Given the description of an element on the screen output the (x, y) to click on. 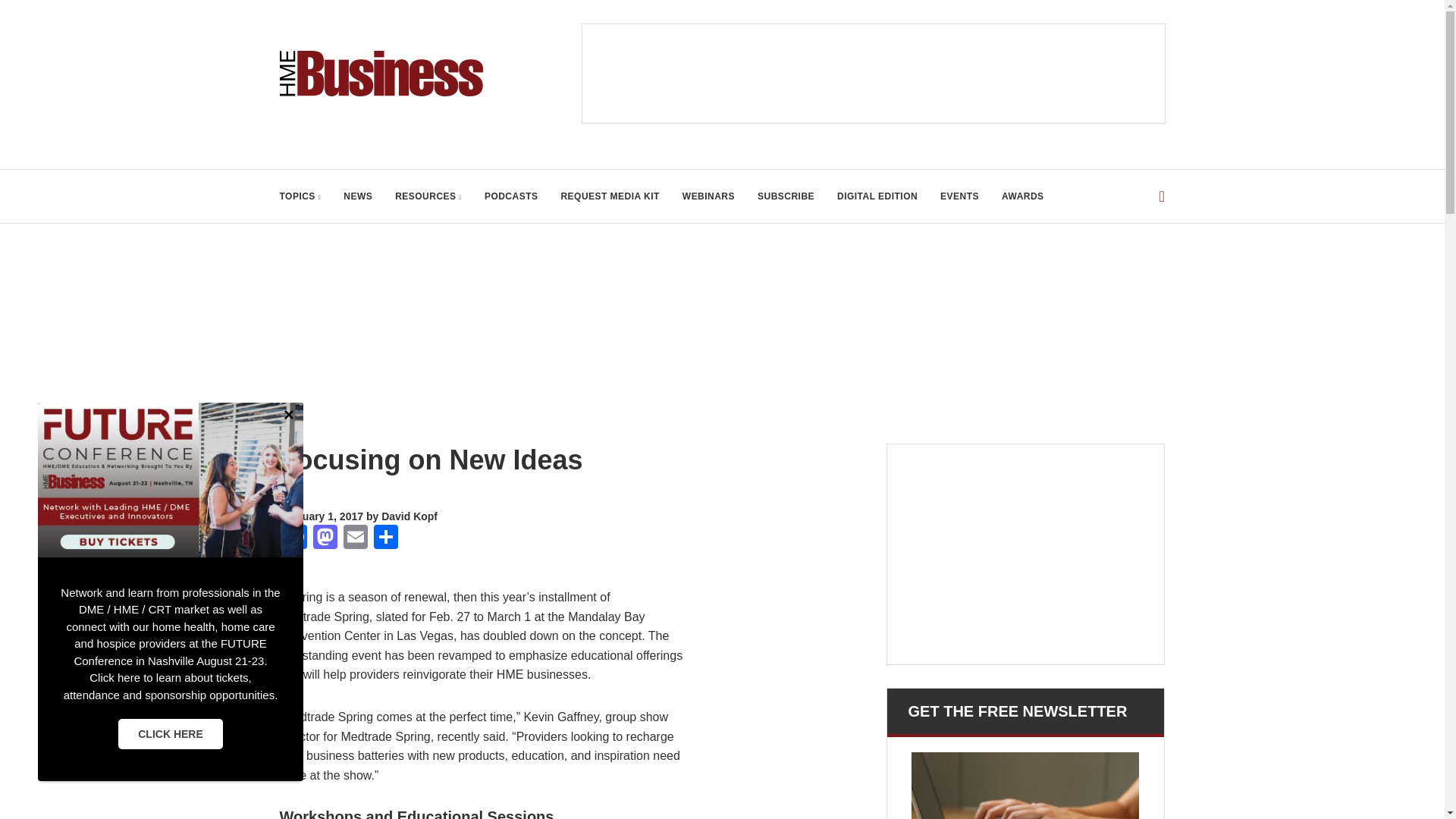
REQUEST MEDIA KIT (609, 195)
Mastodon (323, 538)
SUBSCRIBE (785, 195)
Email (354, 538)
David Kopf (409, 516)
RESOURCES (427, 195)
PODCASTS (511, 195)
3rd party ad content (1024, 554)
EVENTS (959, 195)
3rd party ad content (873, 73)
Mastodon (323, 538)
DIGITAL EDITION (877, 195)
Email (354, 538)
Facebook (293, 538)
